Given the description of an element on the screen output the (x, y) to click on. 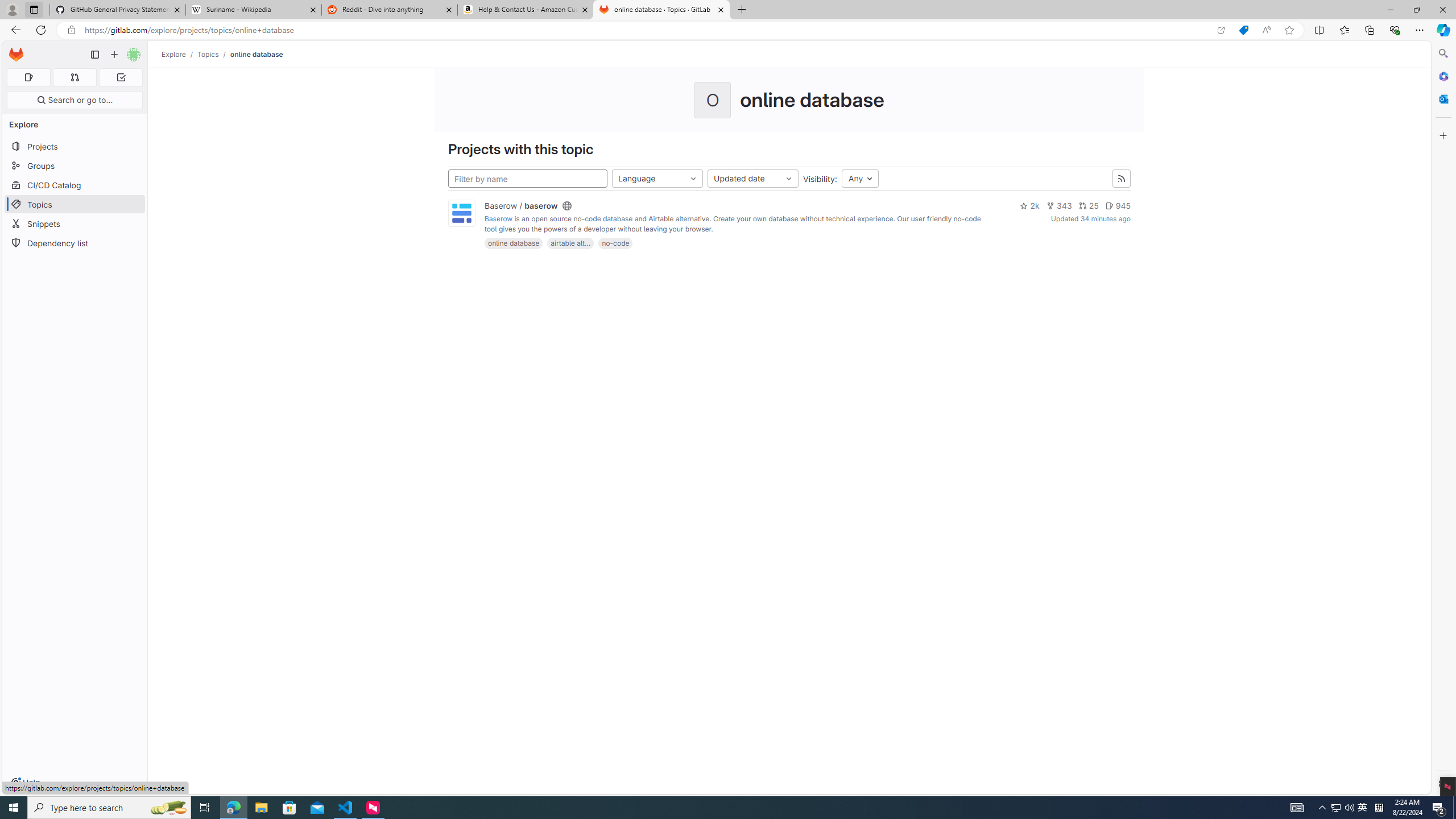
Reddit - Dive into anything (390, 9)
343 (1058, 205)
Filter by name (527, 178)
Skip to main content (13, 49)
945 (1118, 205)
2k (1029, 205)
Assigned issues 0 (28, 76)
Suriname - Wikipedia (253, 9)
Subscribe to the new projects feed (1121, 178)
Primary navigation sidebar (94, 54)
Explore/ (179, 53)
Side bar (1443, 418)
